Given the description of an element on the screen output the (x, y) to click on. 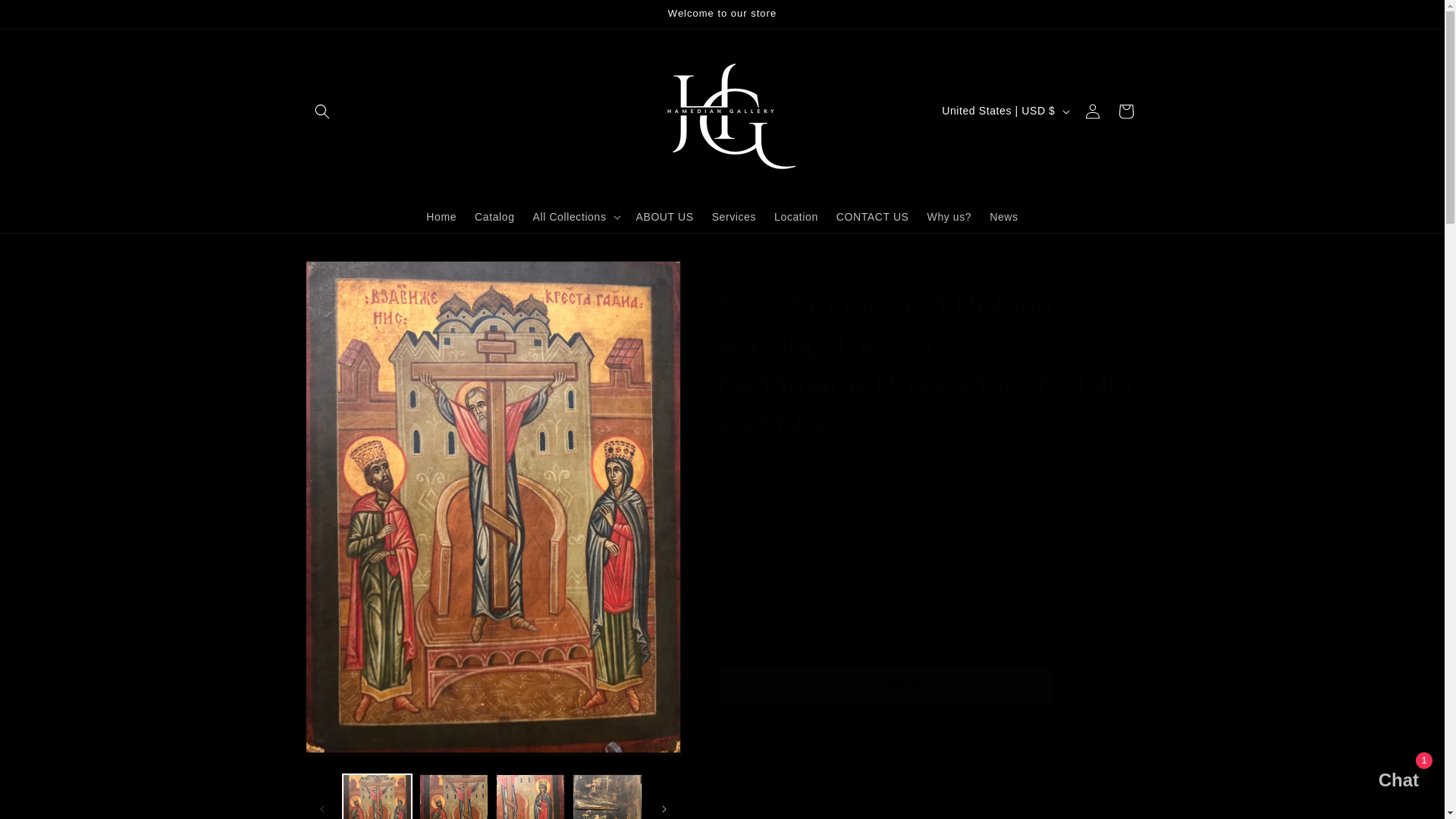
Home (440, 215)
1 (773, 543)
Catalog (493, 215)
Skip to content (45, 17)
Shopify online store chat (1383, 781)
